Given the description of an element on the screen output the (x, y) to click on. 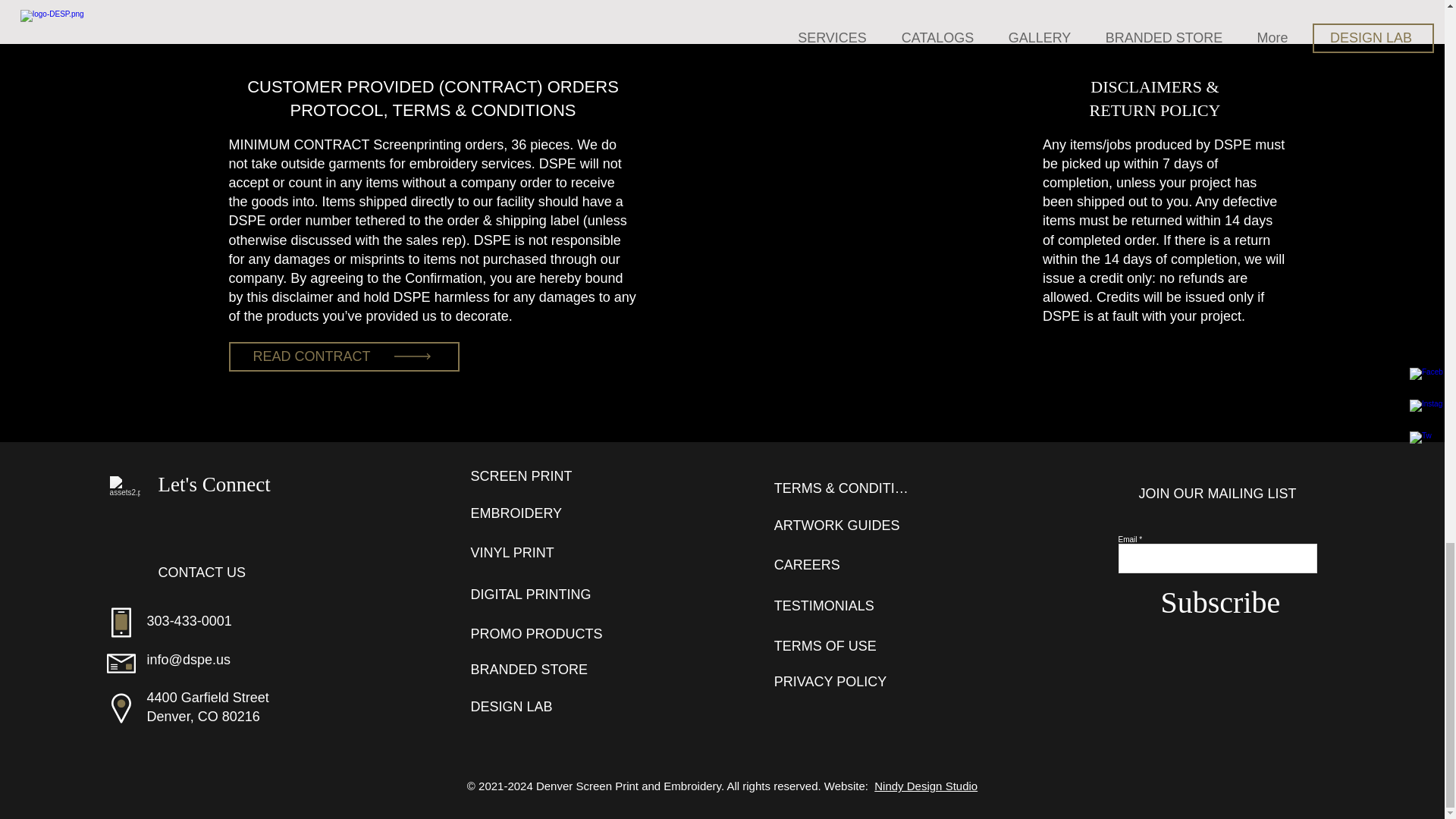
EMBROIDERY (540, 512)
ARTWORK GUIDES (844, 525)
PRIVACY POLICY (844, 681)
CONTACT US (220, 572)
Subscribe (1220, 601)
TERMS OF USE (844, 645)
BRANDED STORE (540, 669)
CAREERS (844, 564)
READ CONTRACT (344, 356)
TESTIMONIALS (844, 605)
VINYL PRINT (540, 552)
PROMO PRODUCTS (540, 634)
DIGITAL PRINTING (540, 594)
SCREEN PRINT (540, 476)
DESIGN LAB (540, 706)
